Given the description of an element on the screen output the (x, y) to click on. 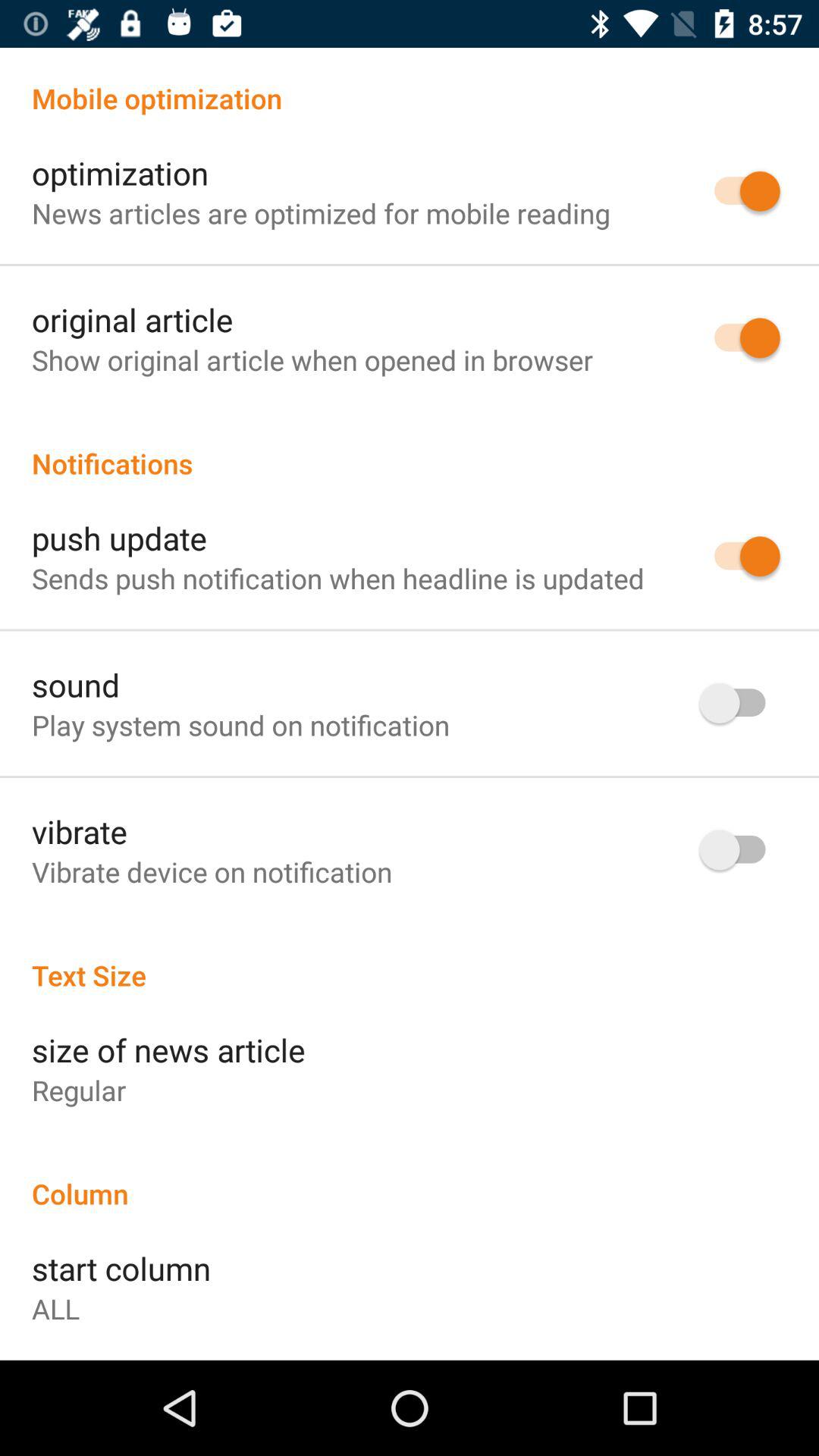
launch size of news icon (168, 1049)
